Given the description of an element on the screen output the (x, y) to click on. 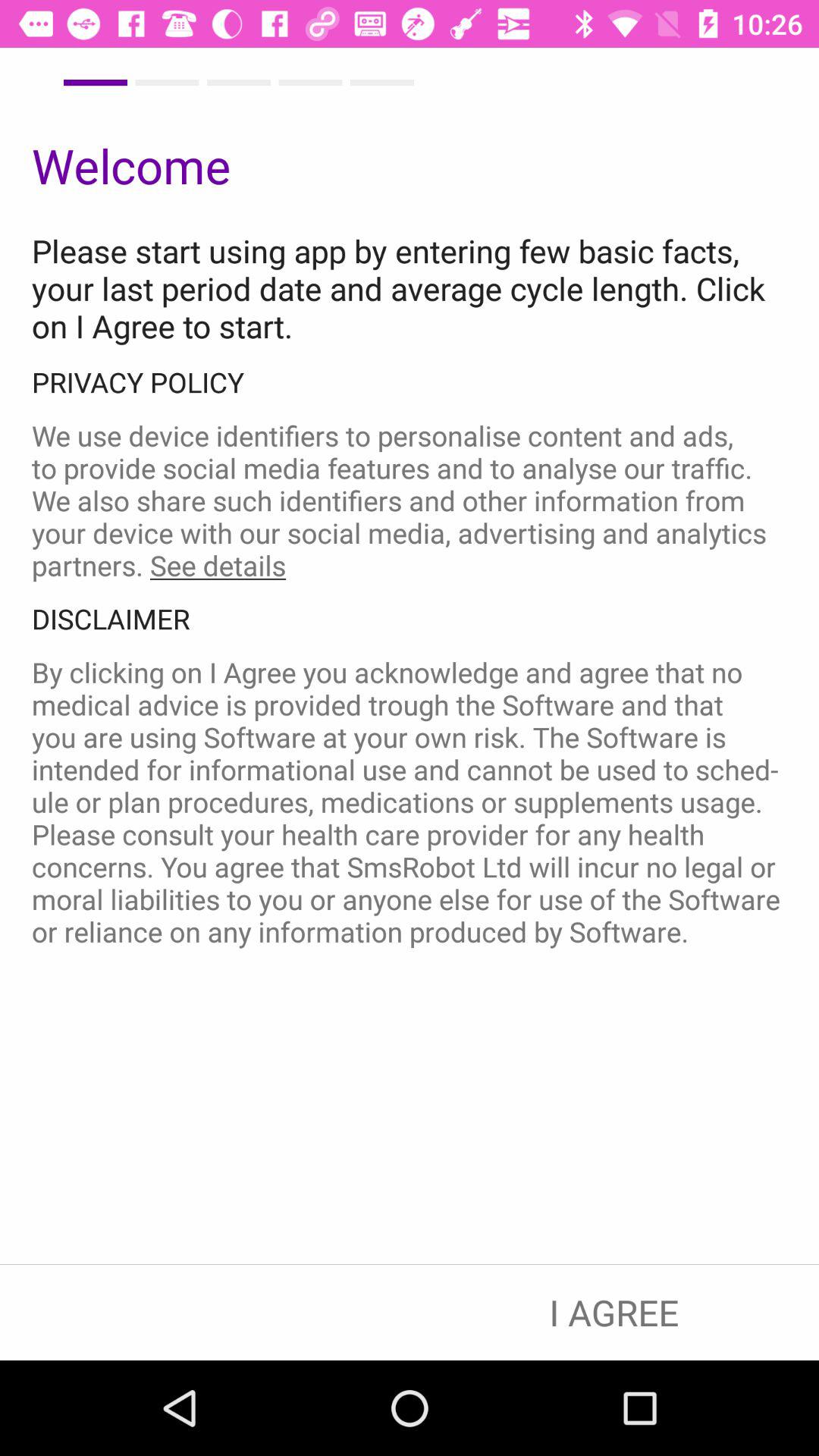
select we use device item (409, 500)
